Given the description of an element on the screen output the (x, y) to click on. 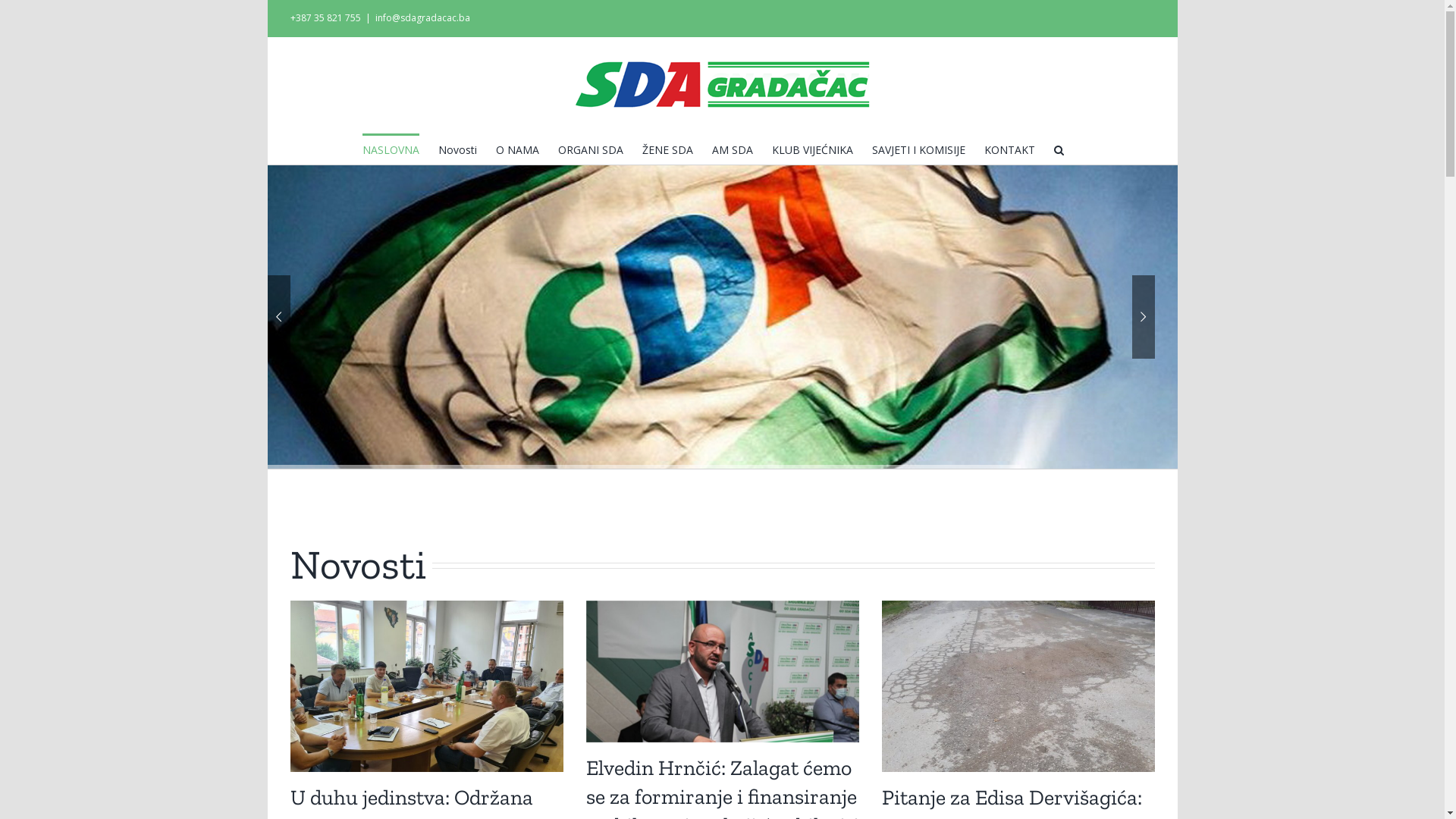
SAVJETI I KOMISIJE Element type: text (918, 148)
NASLOVNA Element type: text (390, 148)
ORGANI SDA Element type: text (590, 148)
O NAMA Element type: text (517, 148)
KONTAKT Element type: text (1009, 148)
AM SDA Element type: text (731, 148)
info@sdagradacac.ba Element type: text (421, 17)
Novosti Element type: text (457, 148)
Search Element type: hover (1058, 148)
